Given the description of an element on the screen output the (x, y) to click on. 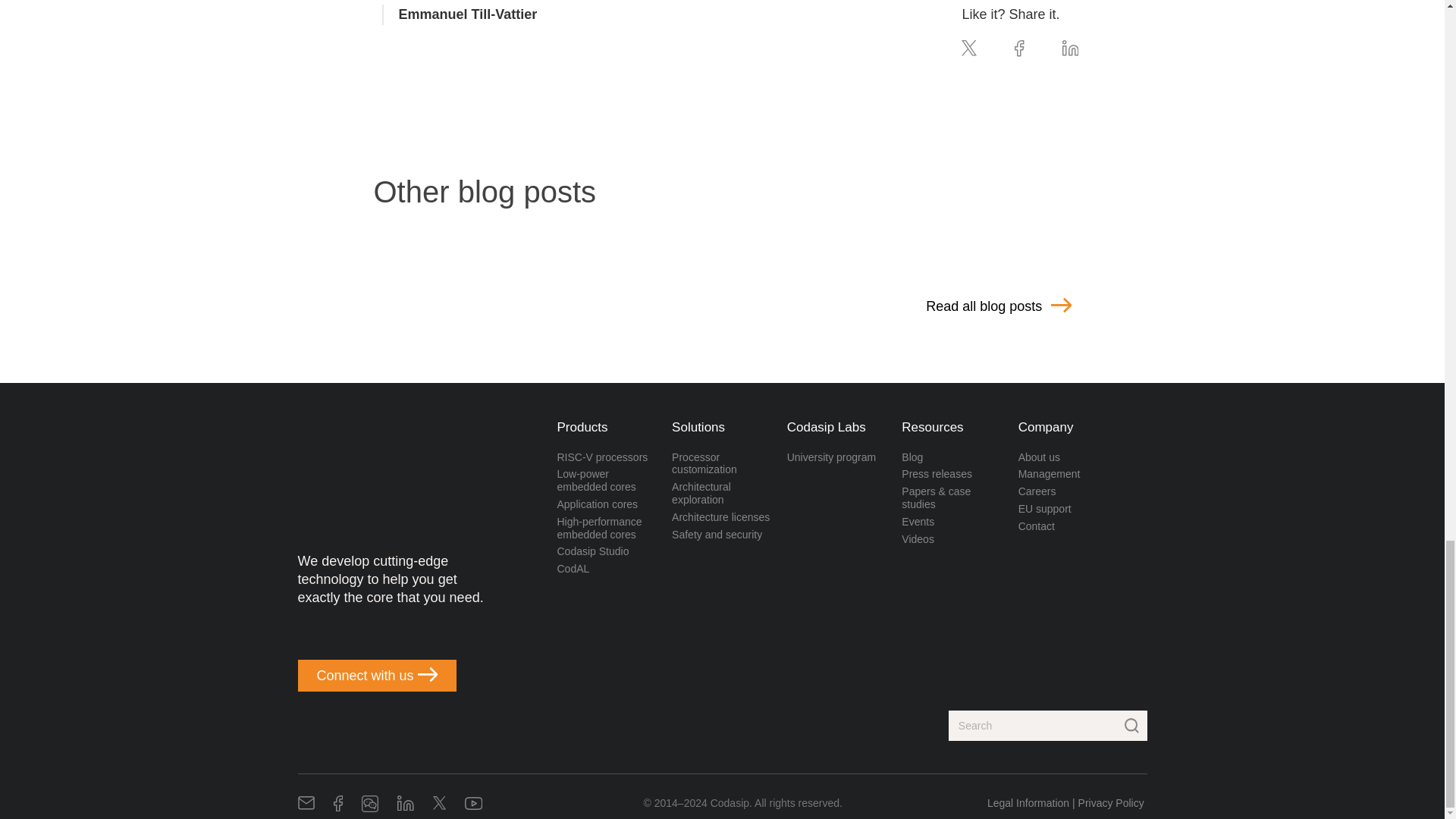
Privacy Policy (1111, 802)
Legal Information (1027, 802)
Tweet this on Twitter (968, 51)
